Given the description of an element on the screen output the (x, y) to click on. 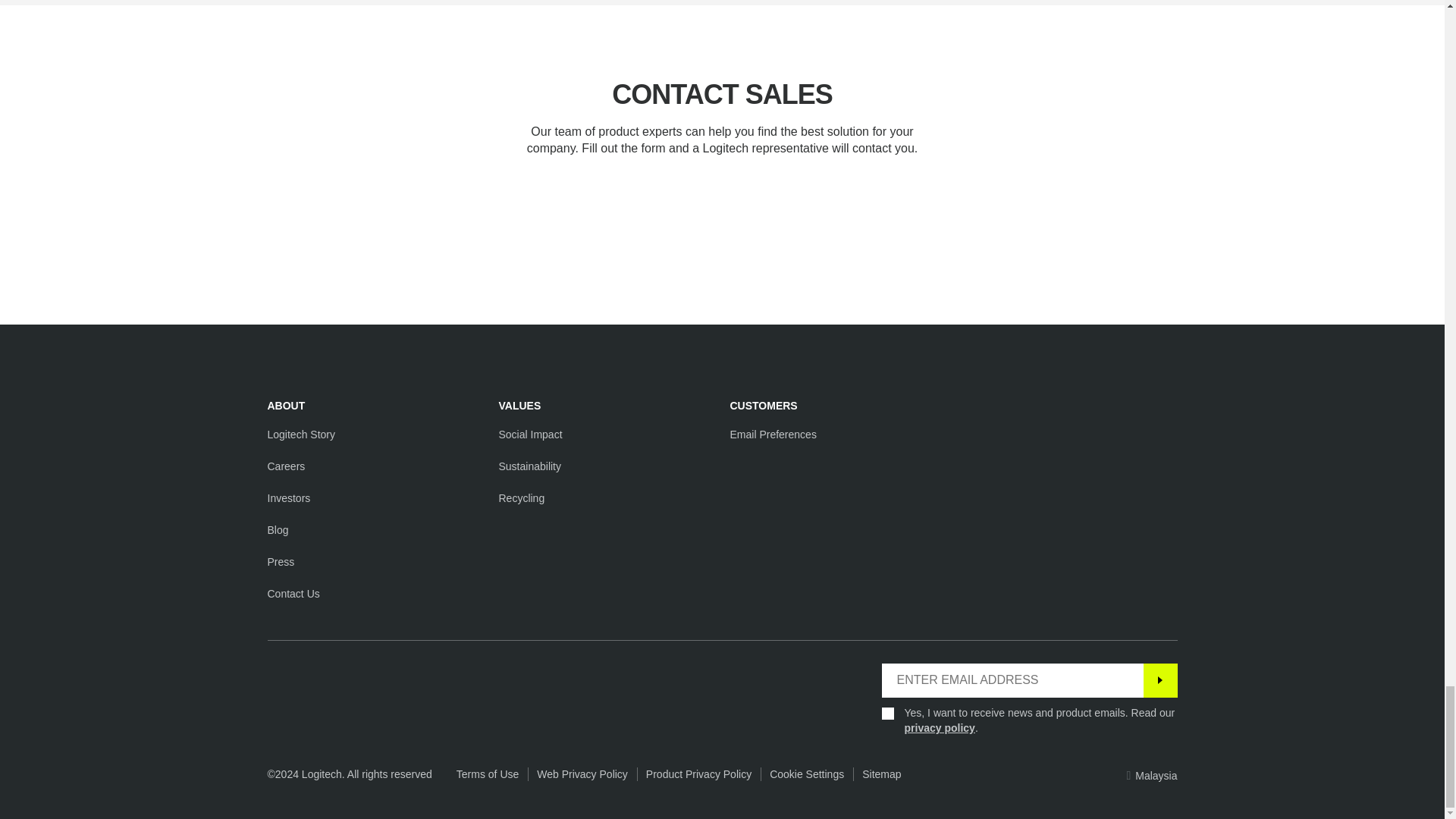
Email Preferences (772, 434)
